Given the description of an element on the screen output the (x, y) to click on. 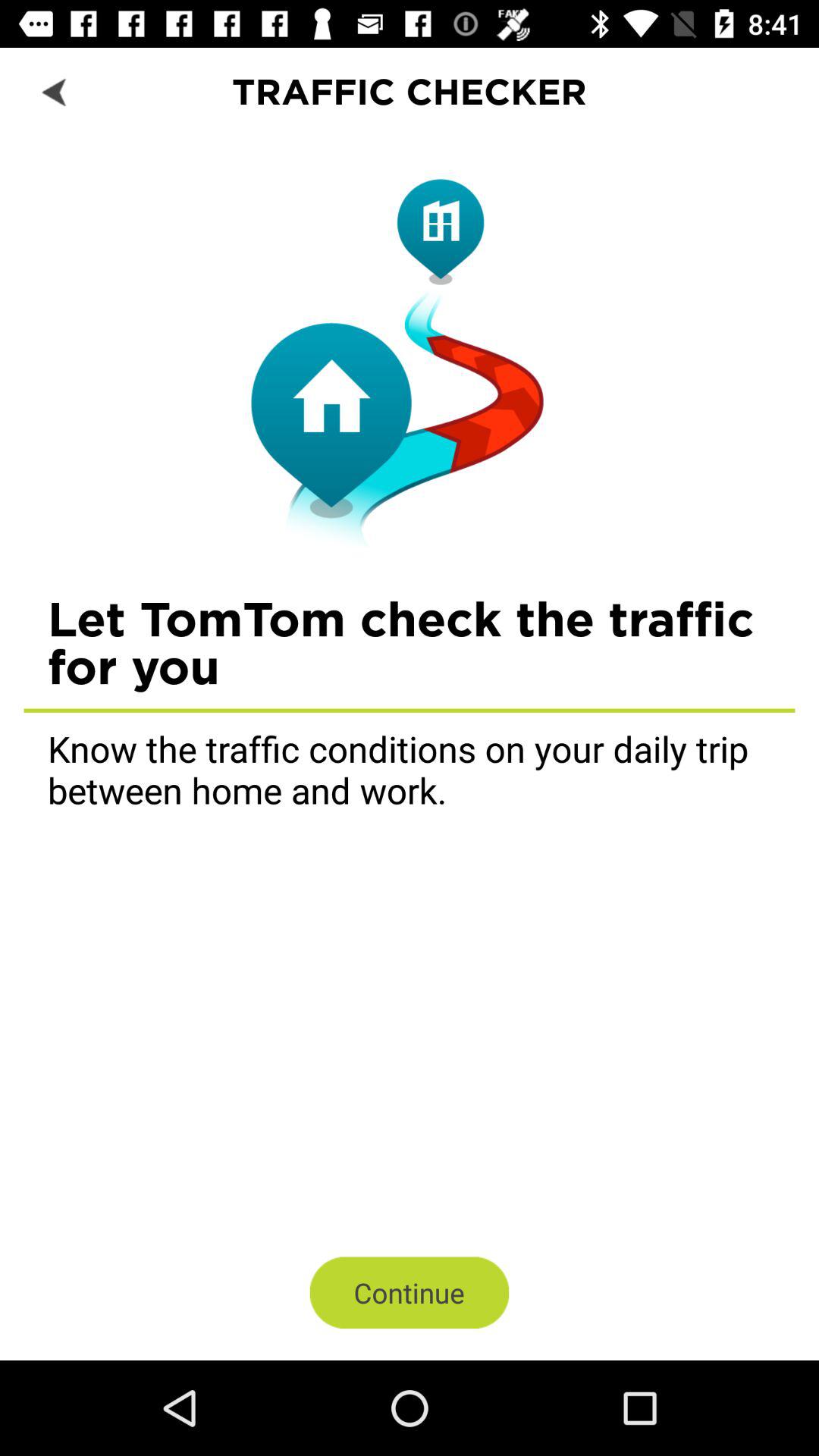
press the item below know the traffic icon (409, 1292)
